Given the description of an element on the screen output the (x, y) to click on. 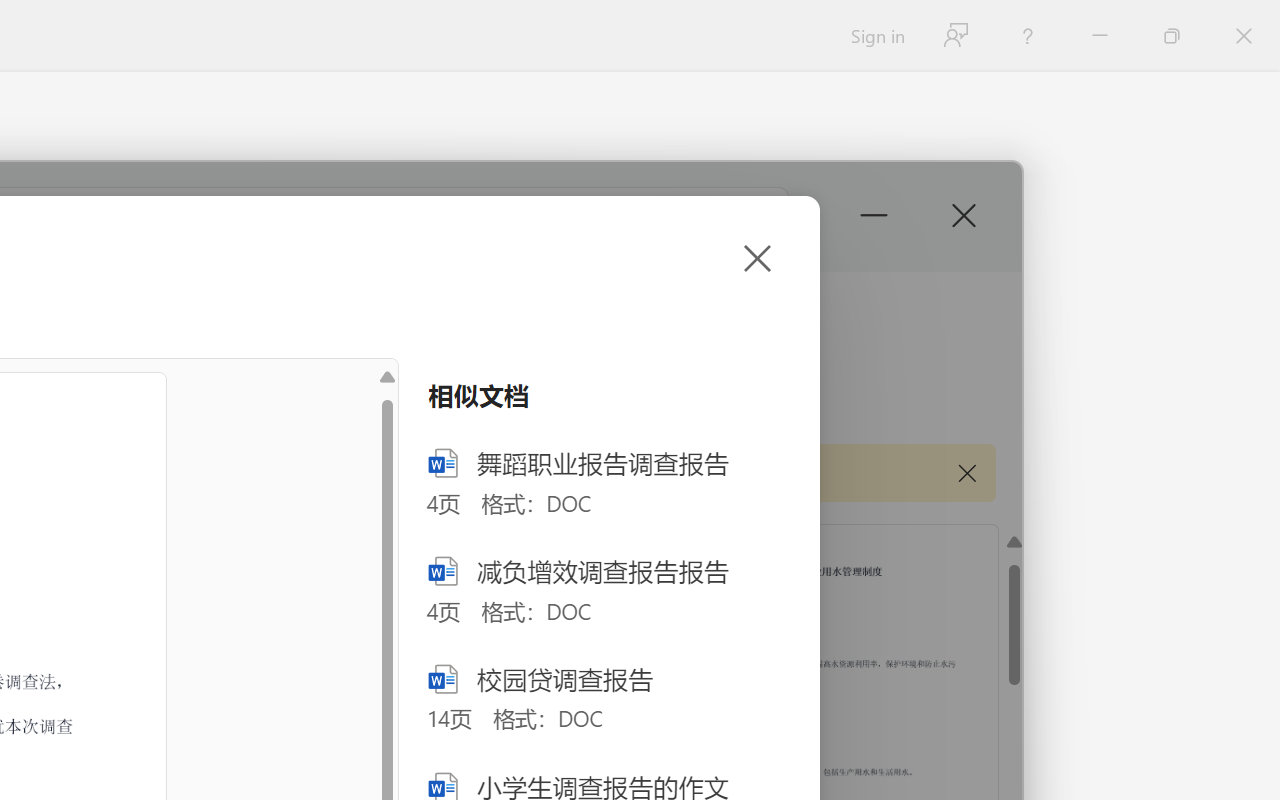
Sign in (875, 35)
